Given the description of an element on the screen output the (x, y) to click on. 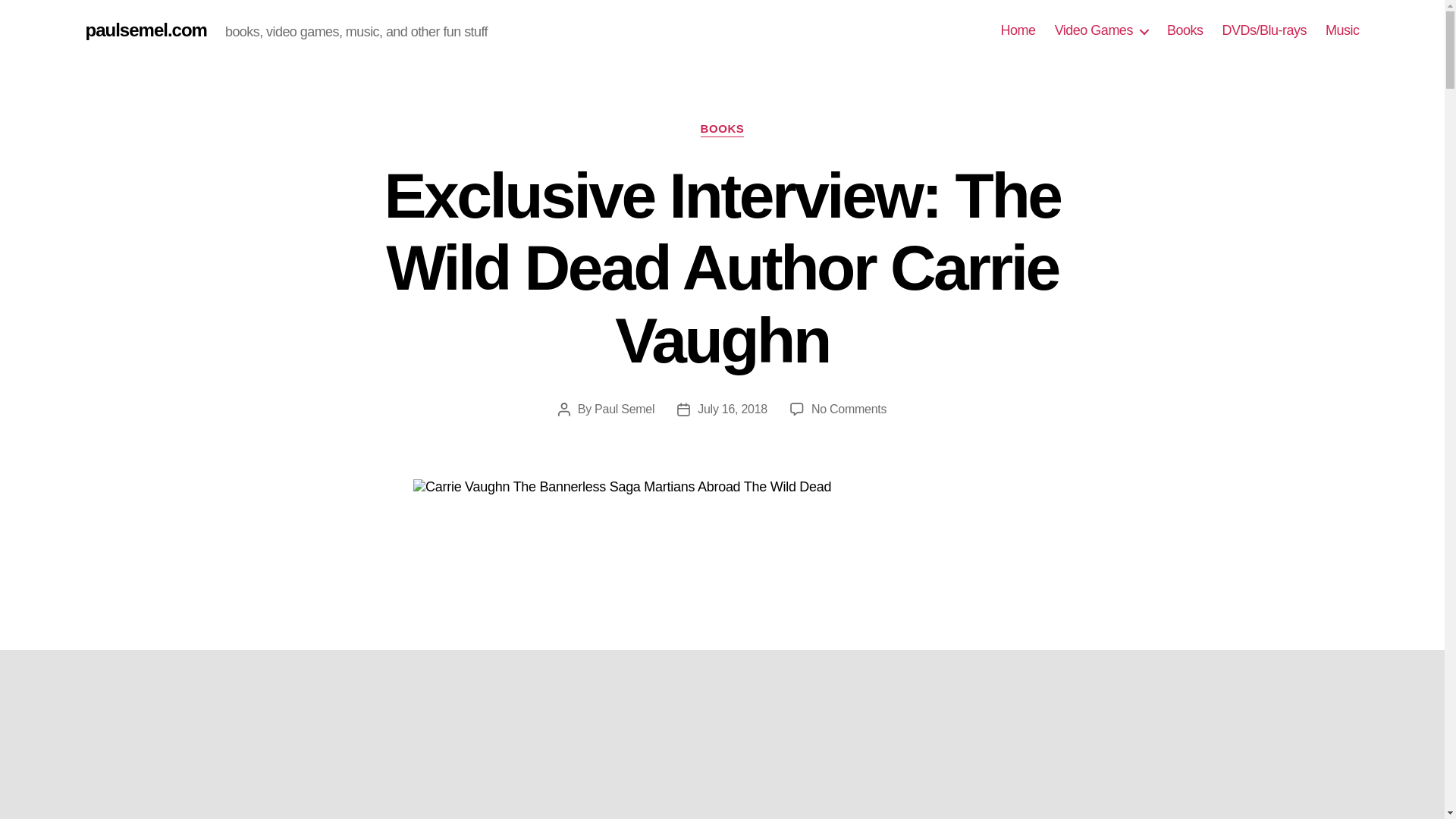
Music (1341, 30)
Books (1185, 30)
Video Games (1101, 30)
July 16, 2018 (732, 408)
BOOKS (722, 129)
Paul Semel (623, 408)
paulsemel.com (145, 30)
Home (1018, 30)
